Given the description of an element on the screen output the (x, y) to click on. 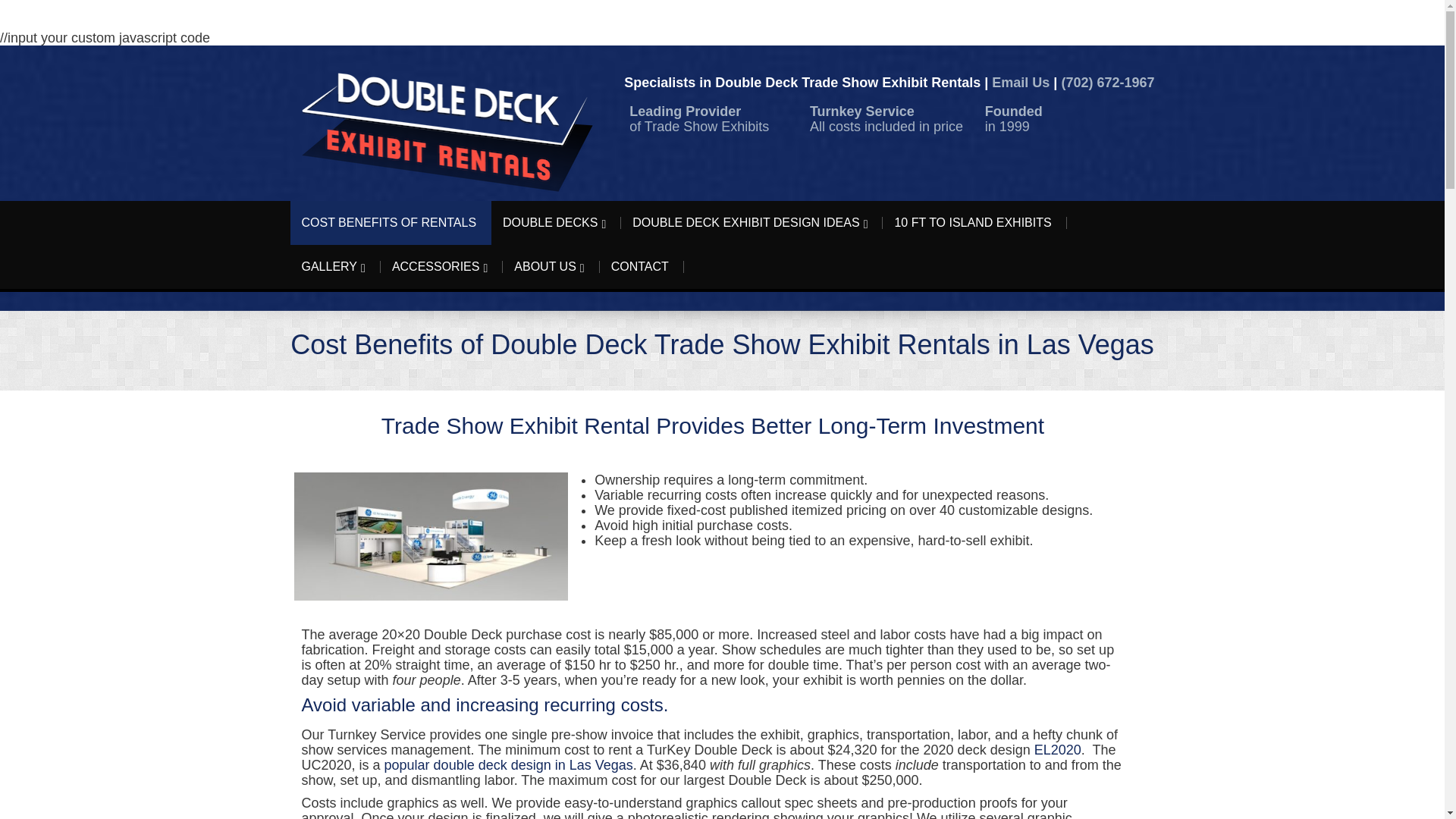
Email Us (1020, 82)
About Double Deck Exhibit Rentals (548, 266)
Double Deck Trade Show Exhibit Rentals (445, 132)
COST BENEFITS OF RENTALS (388, 222)
Double Deck Exhibit Design With Offices -Hospitality (431, 536)
DOUBLE DECKS (554, 222)
